Given the description of an element on the screen output the (x, y) to click on. 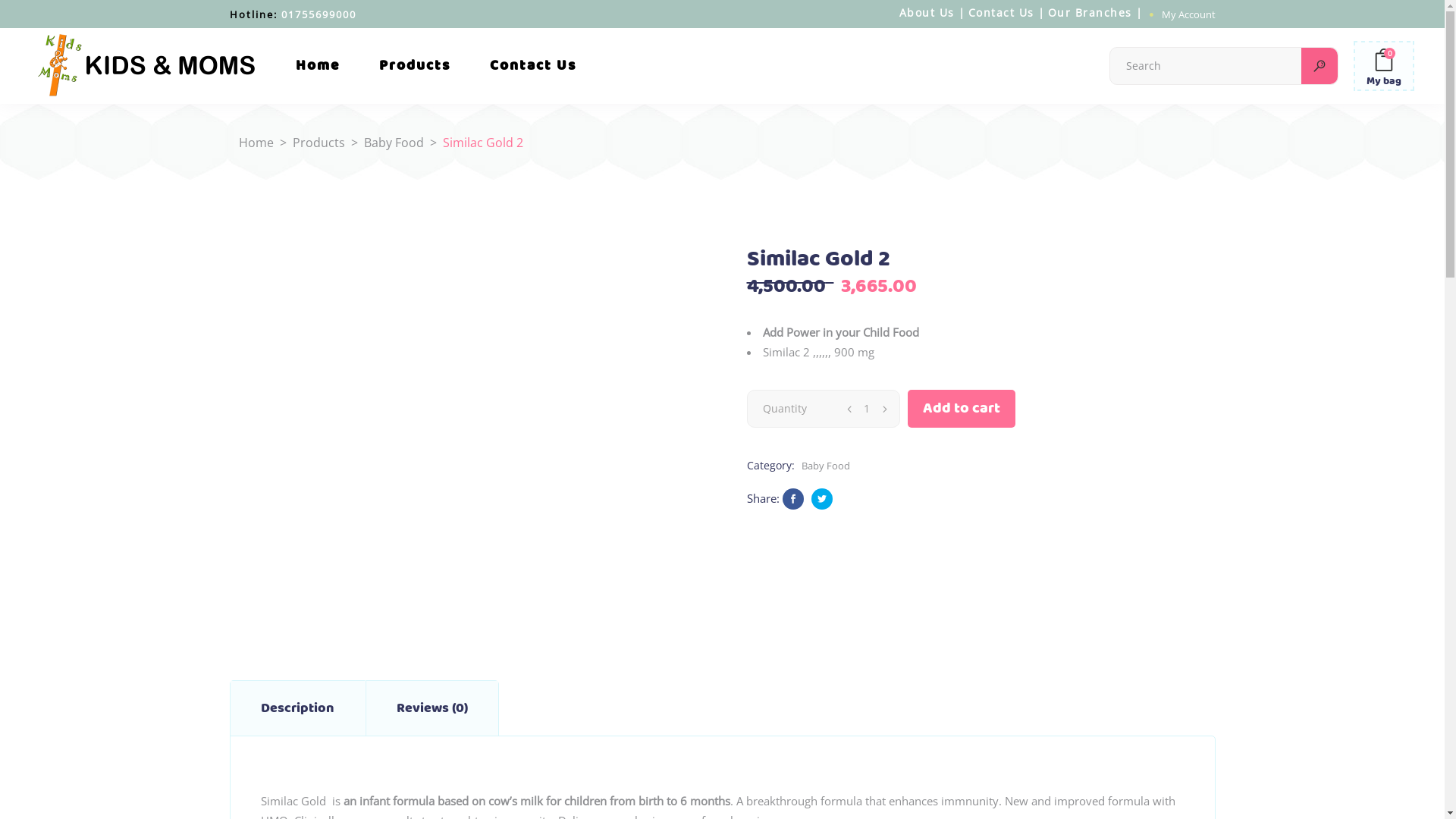
Contact Us | Element type: text (1005, 12)
Search for: Element type: hover (1205, 65)
Contact Us Element type: text (533, 65)
Reviews (0) Element type: text (431, 707)
About Us | Element type: text (932, 12)
Products Element type: text (318, 142)
01755699000 Element type: text (317, 14)
Description Element type: text (297, 707)
Home Element type: text (255, 142)
Products Element type: text (414, 65)
Baby Food Element type: text (823, 465)
Qty Element type: hover (865, 408)
Home Element type: text (317, 65)
Our Branches | Element type: text (1095, 12)
Add to cart Element type: text (960, 408)
Baby Food Element type: text (393, 142)
My bag
0 Element type: text (1383, 65)
My Account Element type: text (1188, 14)
